Given the description of an element on the screen output the (x, y) to click on. 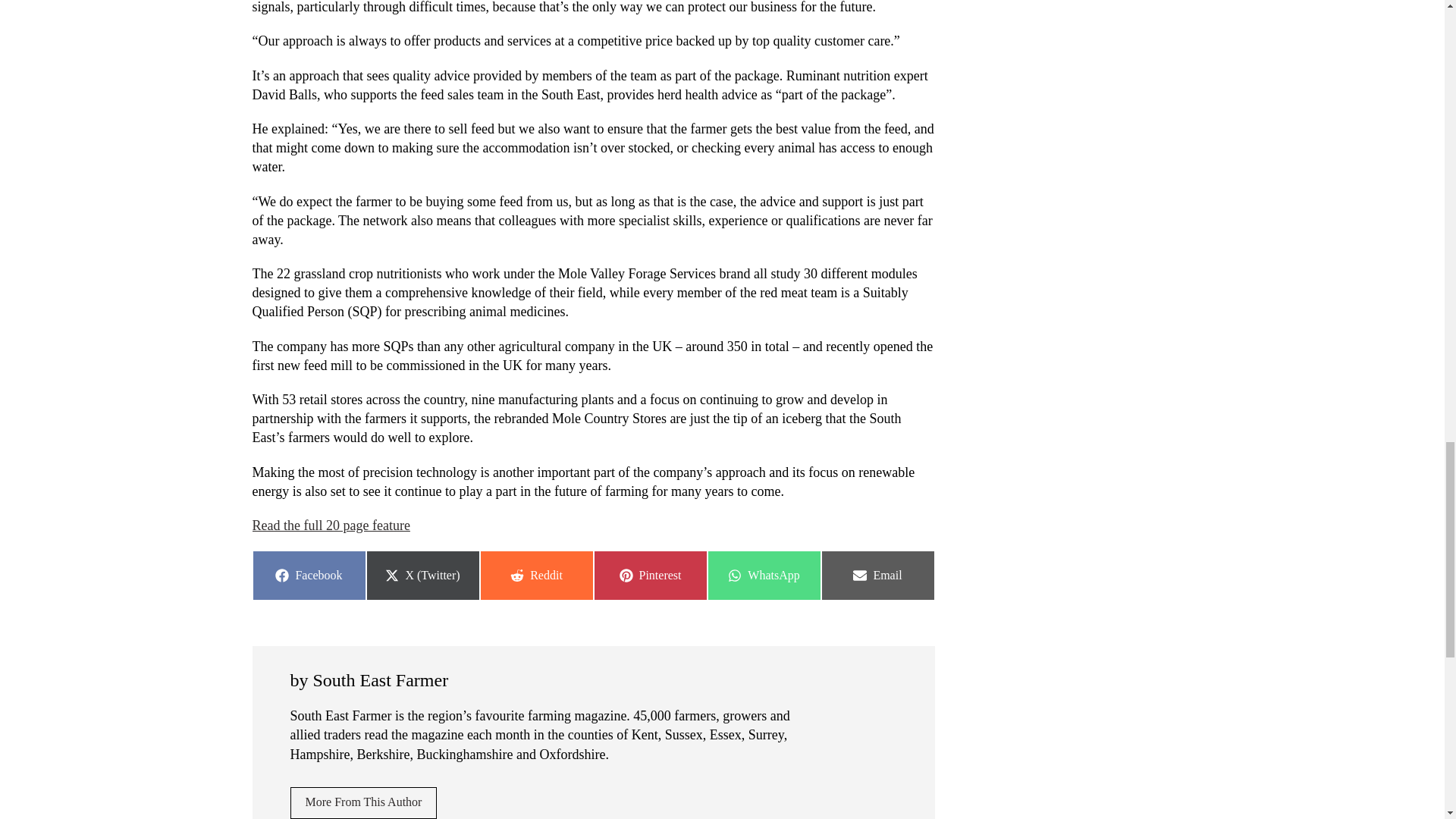
More From This Author (362, 803)
Read the full 20 page feature (330, 525)
